Given the description of an element on the screen output the (x, y) to click on. 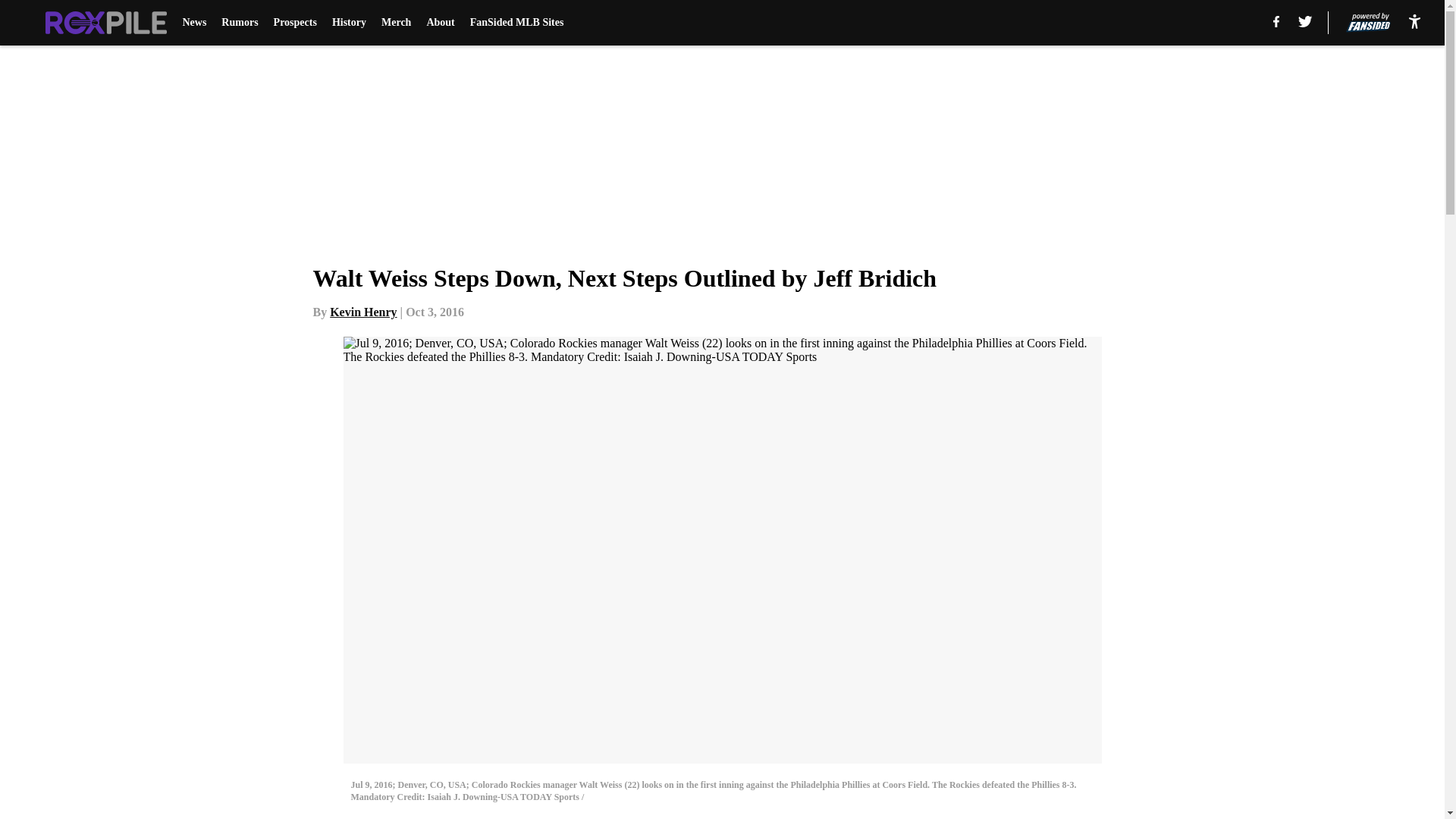
Kevin Henry (363, 311)
FanSided MLB Sites (517, 22)
Rumors (239, 22)
Merch (395, 22)
Prospects (295, 22)
News (194, 22)
About (440, 22)
History (348, 22)
